Given the description of an element on the screen output the (x, y) to click on. 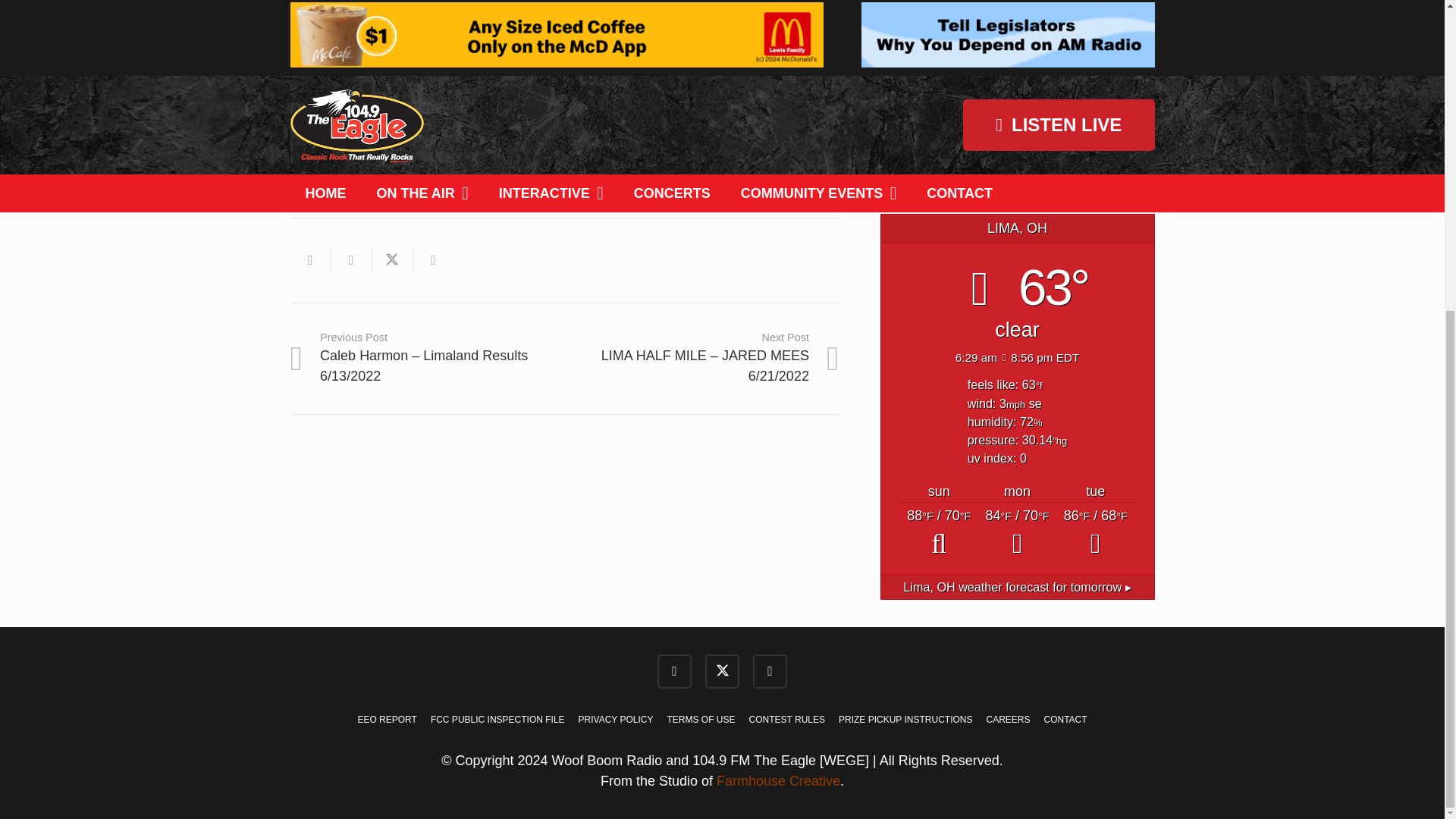
Scattered Thunderstorms (1095, 533)
Email this (309, 259)
Mute (776, 153)
Share this (432, 259)
Scattered Thunderstorms (1017, 533)
Lima, OH - Weather forecast for tomorrow (1016, 586)
Partly Cloudy (938, 533)
LISTEN LIVE (1017, 151)
Facebook (674, 671)
Share this (350, 259)
Tweet this (391, 259)
Play (309, 153)
